Given the description of an element on the screen output the (x, y) to click on. 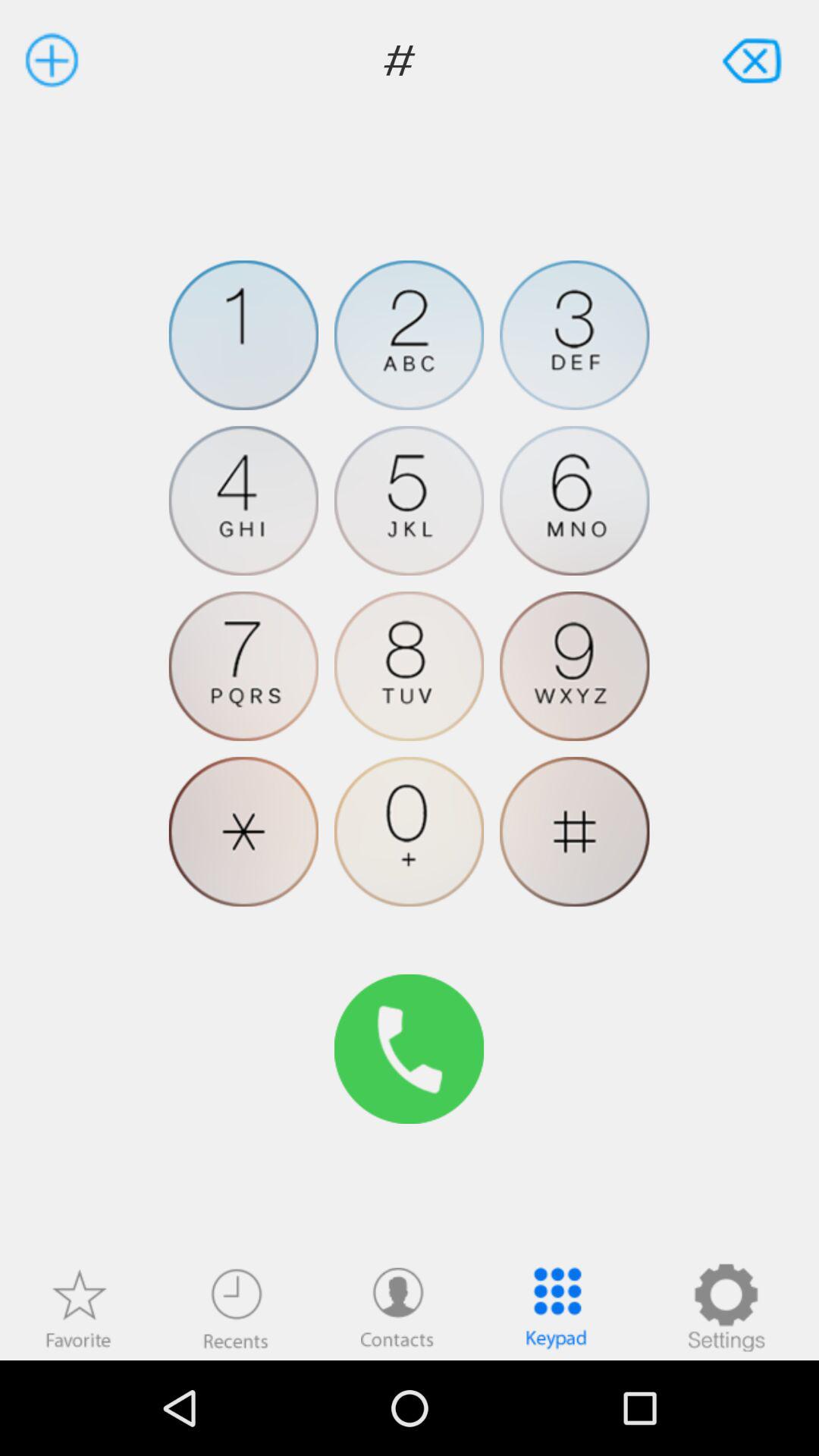
type number 1 (243, 335)
